Given the description of an element on the screen output the (x, y) to click on. 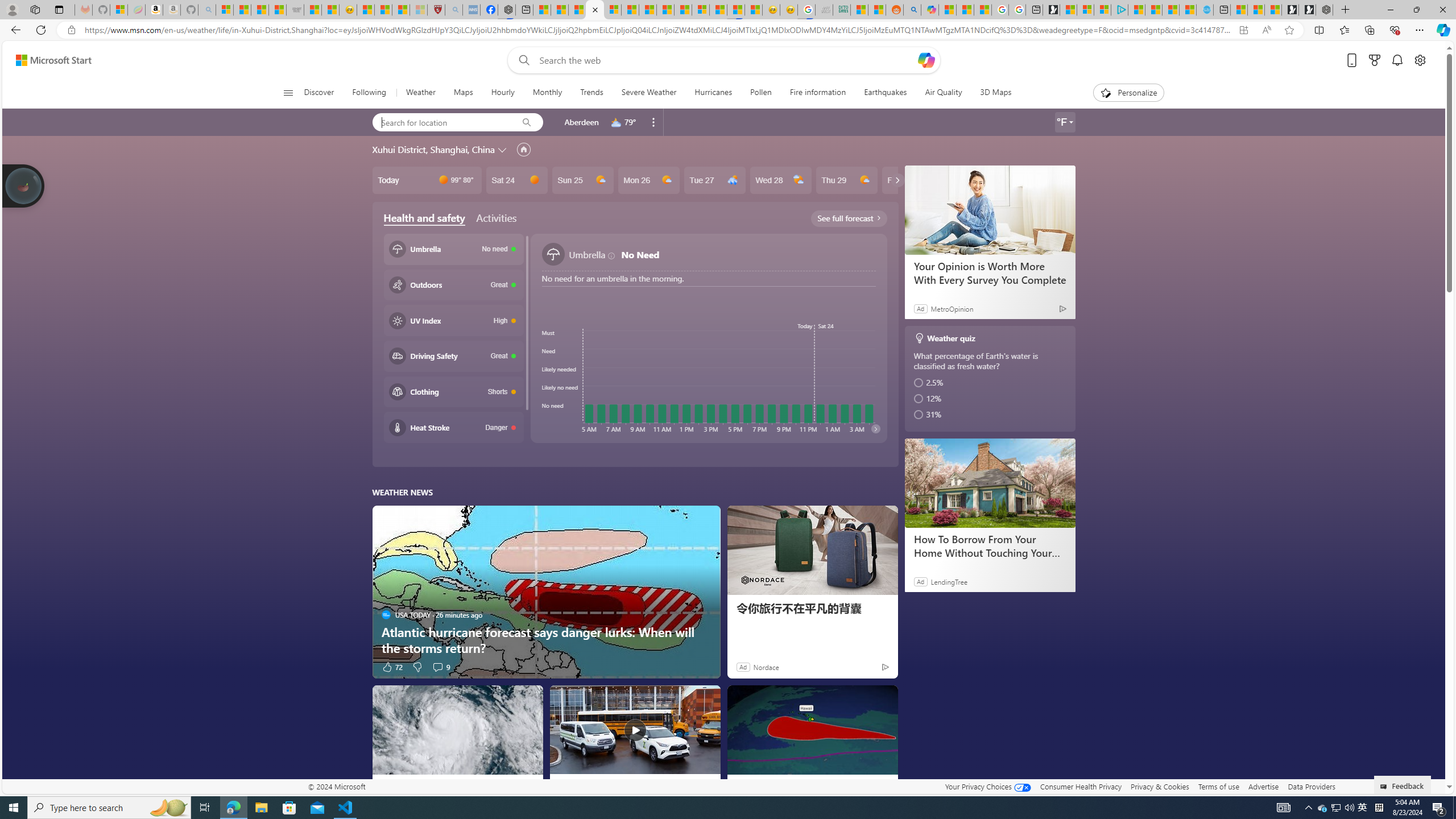
See more (884, 698)
Microsoft Start Gaming (1051, 9)
Utah sues federal government - Search (912, 9)
LendingTree (948, 581)
Back (13, 29)
Combat Siege (294, 9)
Copilot (Ctrl+Shift+.) (1442, 29)
Web search (520, 60)
Consumer Health Privacy (1080, 785)
Tue 27 (714, 180)
